Given the description of an element on the screen output the (x, y) to click on. 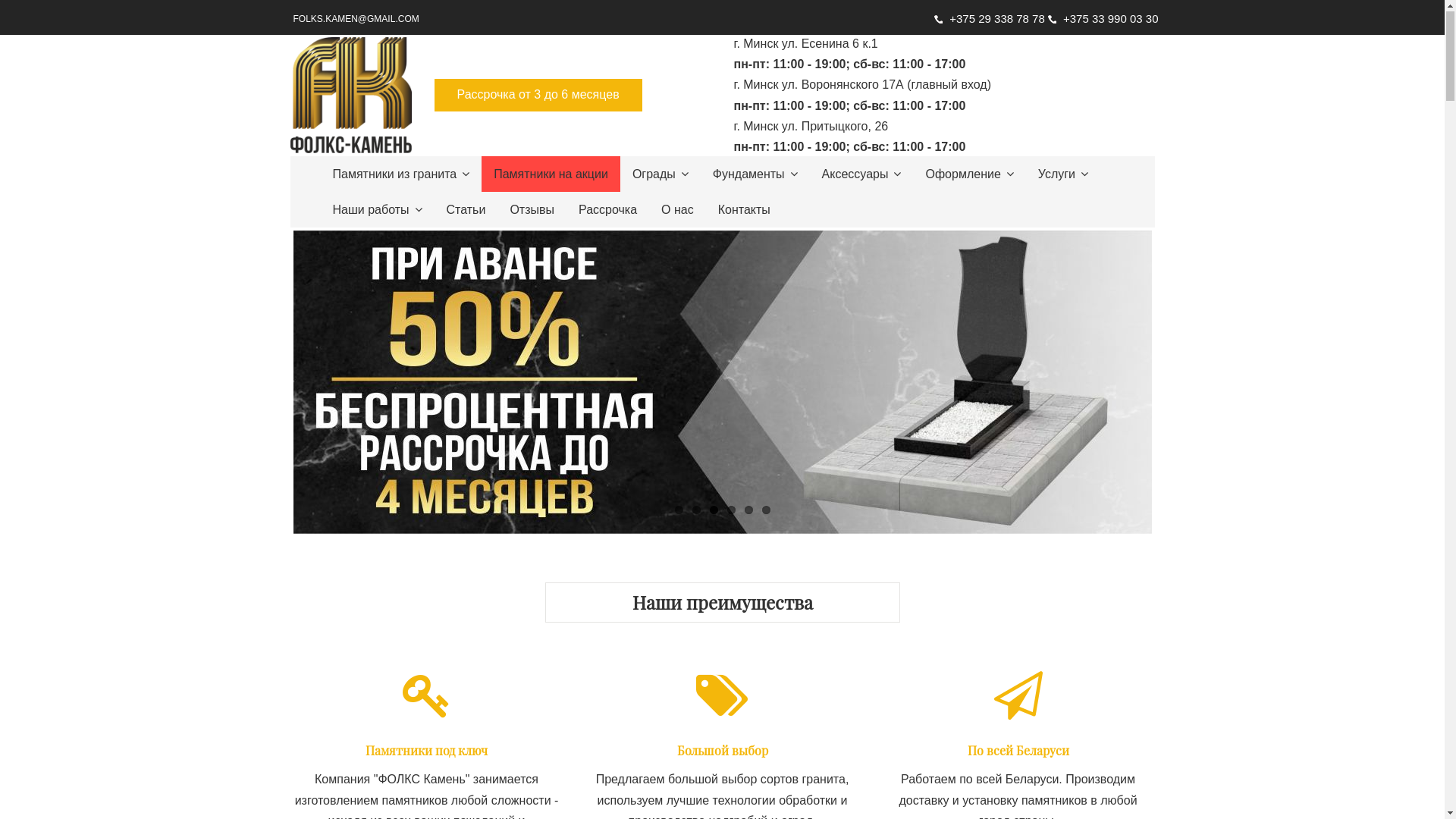
4 Element type: text (730, 510)
+375 33 990 03 30 Element type: text (1103, 18)
2 Element type: text (695, 510)
1 Element type: text (678, 510)
5 Element type: text (748, 510)
3 Element type: text (713, 510)
+375 29 338 78 78 Element type: text (991, 18)
6 Element type: text (765, 510)
FOLKS.KAMEN@GMAIL.COM Element type: text (355, 19)
0 Element type: text (721, 382)
